Given the description of an element on the screen output the (x, y) to click on. 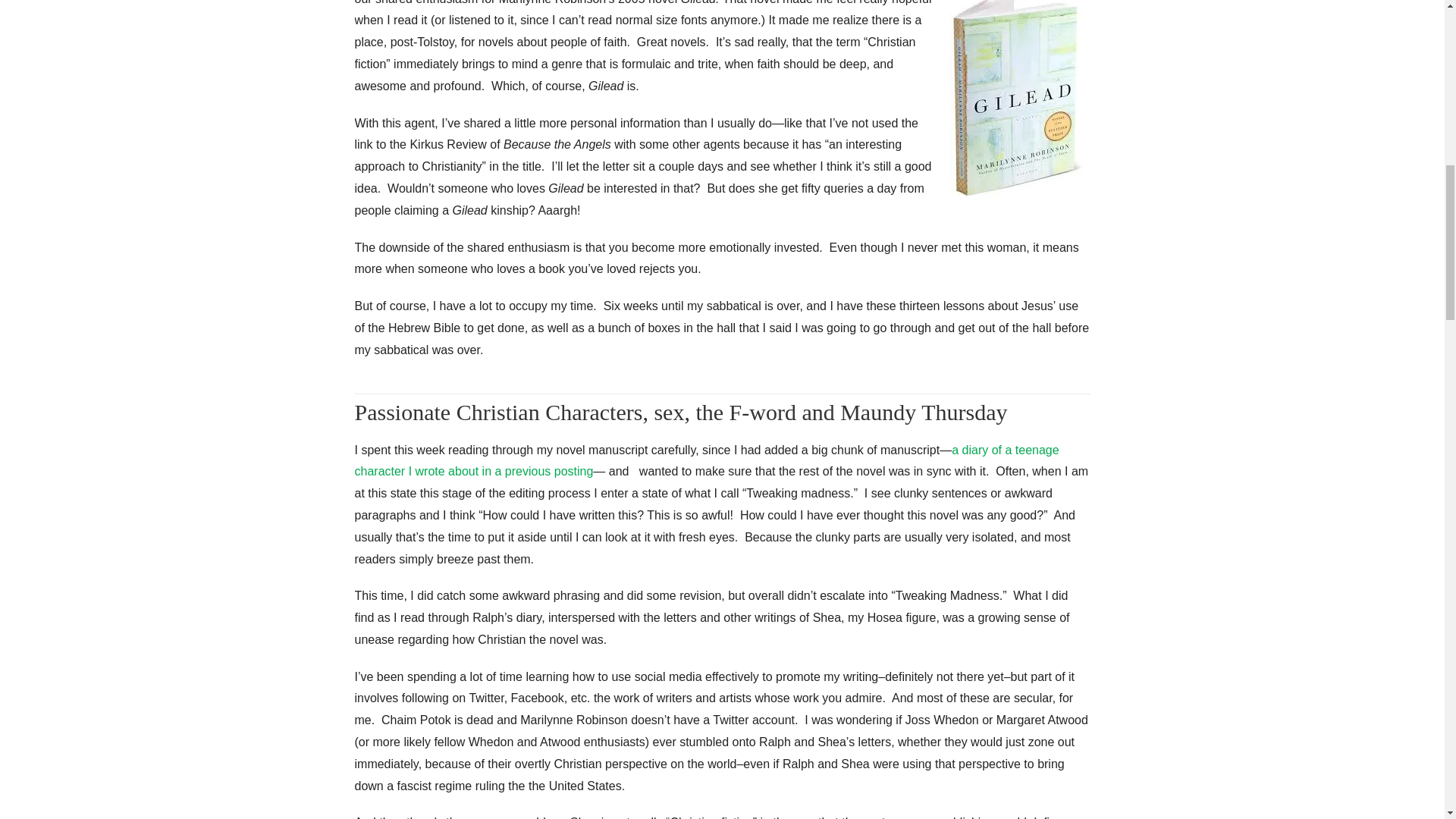
Diary of Ralph (707, 460)
